Given the description of an element on the screen output the (x, y) to click on. 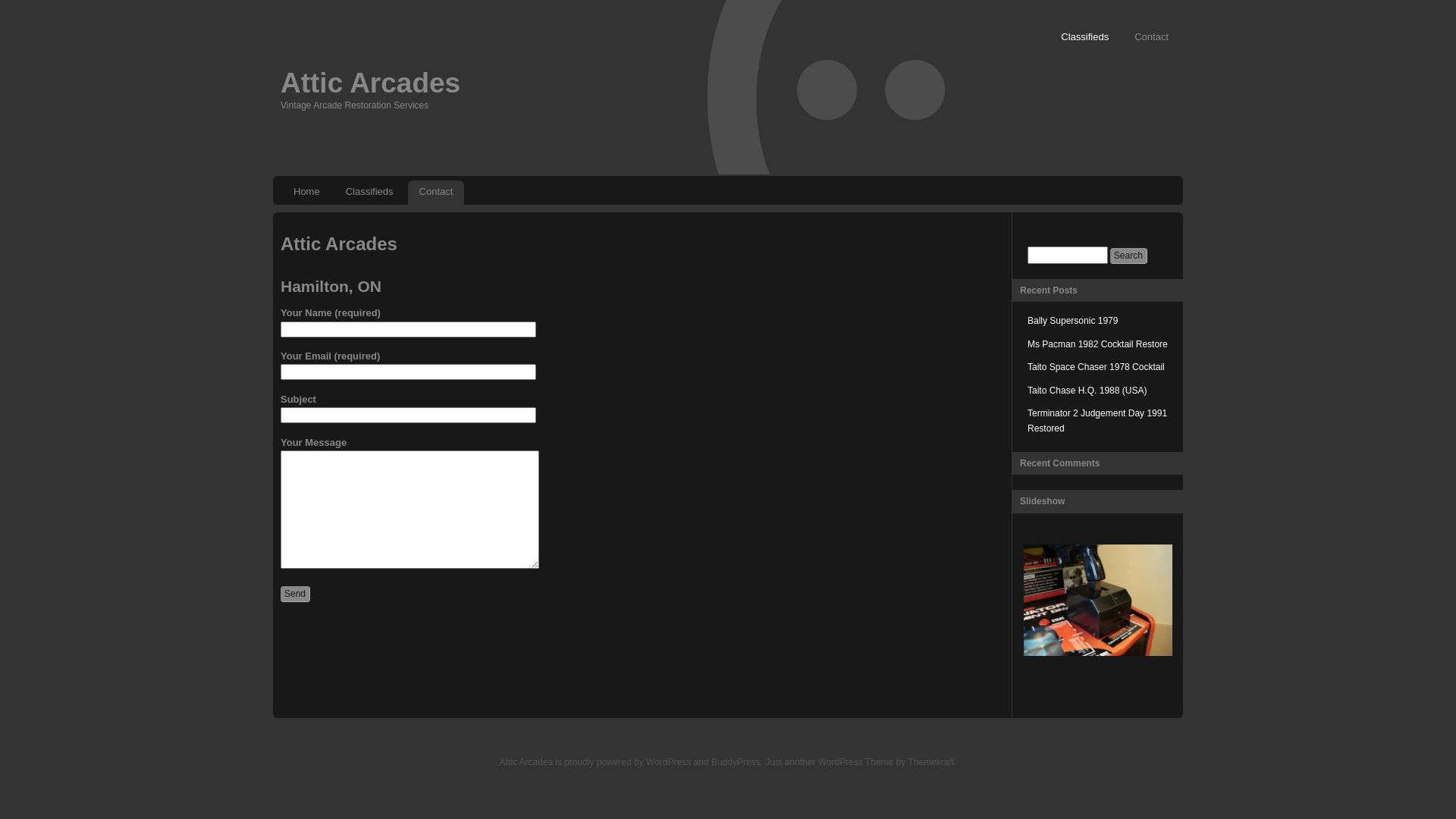
Terminator 2 Judgement Day 1991 Restored Element type: text (1097, 420)
Contact Element type: text (435, 192)
Taito Space Chaser 1978 Cocktail Element type: text (1095, 366)
Taito Chase H.Q. 1988 (USA) Element type: text (1086, 390)
Ms Pacman 1982 Cocktail Restore Element type: text (1097, 344)
Send Element type: text (295, 594)
Attic Arcades Element type: text (370, 82)
Search Element type: text (1128, 255)
Contact Element type: text (1151, 37)
Home Element type: text (306, 192)
Classifieds Element type: text (1084, 37)
WordPress Element type: text (668, 762)
Classifieds Element type: text (369, 192)
BuddyPress Element type: text (735, 762)
WordPress Theme by Themekraft Element type: text (885, 762)
Bally Supersonic 1979 Element type: text (1072, 320)
